Given the description of an element on the screen output the (x, y) to click on. 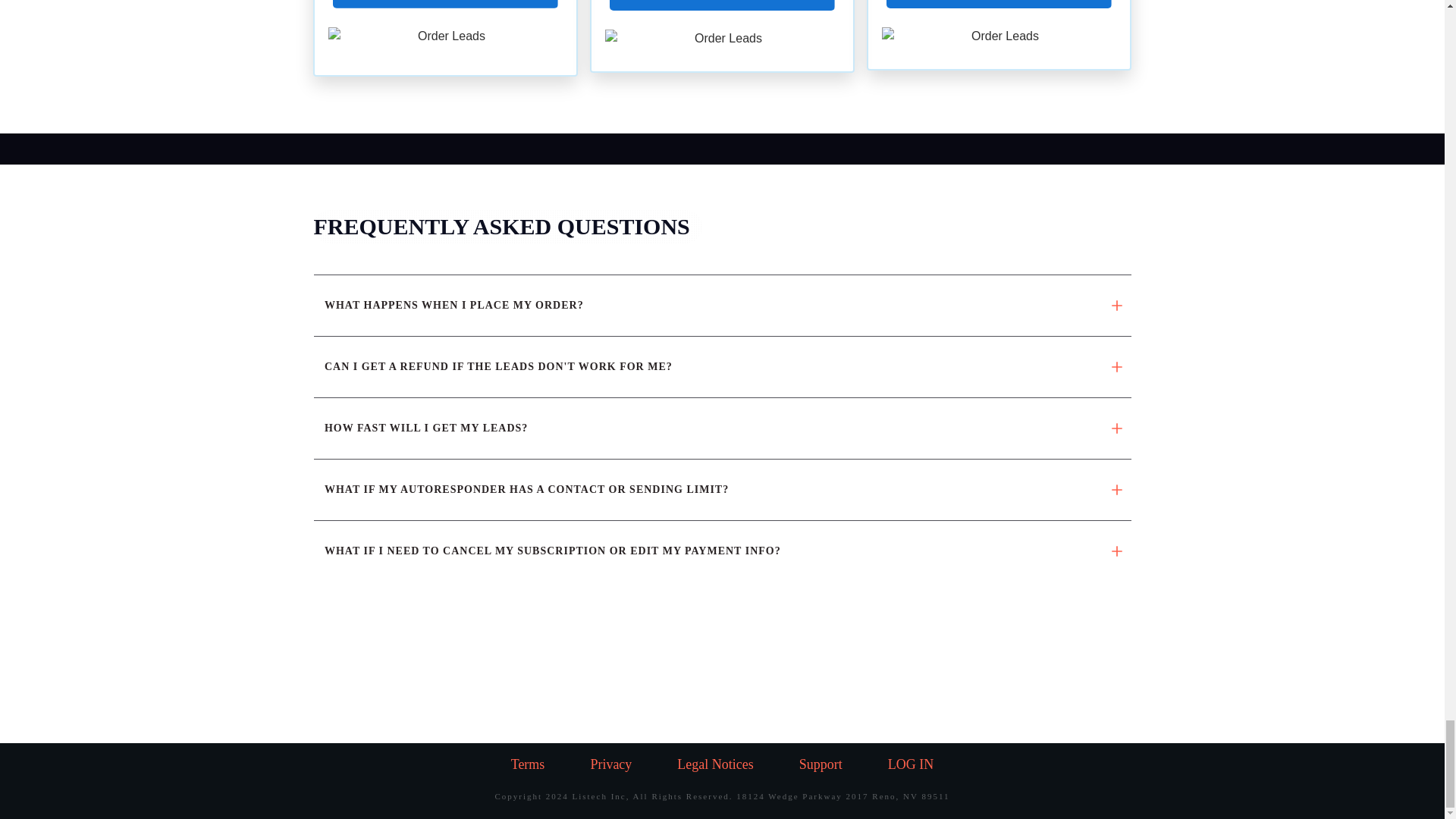
Terms (527, 764)
Yes, Send Me Buyer Leads! (722, 5)
Privacy (610, 764)
Legal Notices (714, 764)
LOG IN (911, 764)
Yes, Send Me Buyer Leads! (998, 4)
Support (821, 764)
Yes, Send Me Buyer Leads! (445, 4)
